Given the description of an element on the screen output the (x, y) to click on. 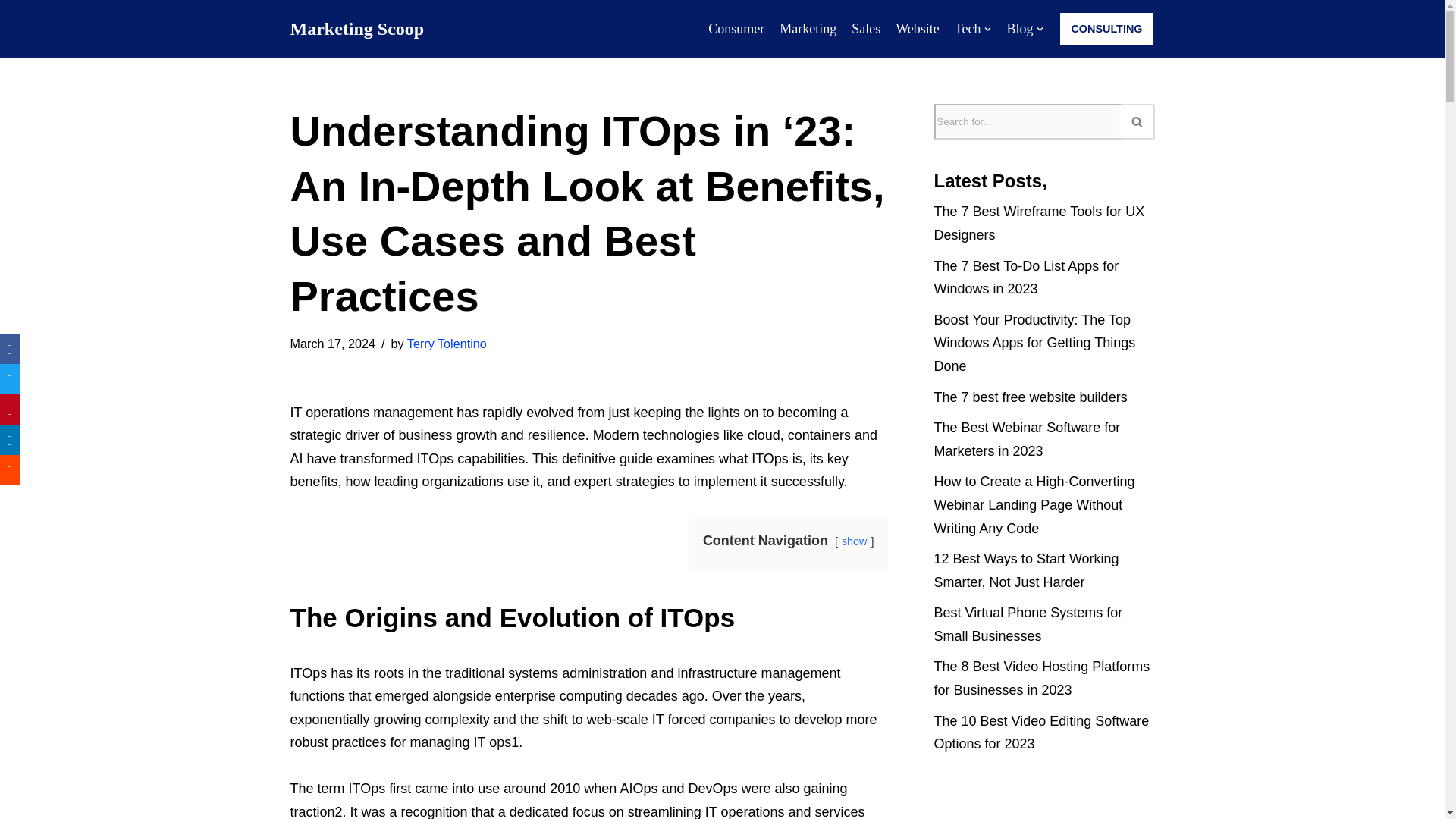
Terry Tolentino (446, 343)
The 7 Best To-Do List Apps for Windows in 2023 (1026, 277)
Posts by Terry Tolentino (446, 343)
show (854, 541)
Skip to content (11, 31)
Marketing (806, 29)
Marketing Scoop (356, 29)
CONSULTING (1106, 28)
Consumer (735, 29)
Website (917, 29)
